Given the description of an element on the screen output the (x, y) to click on. 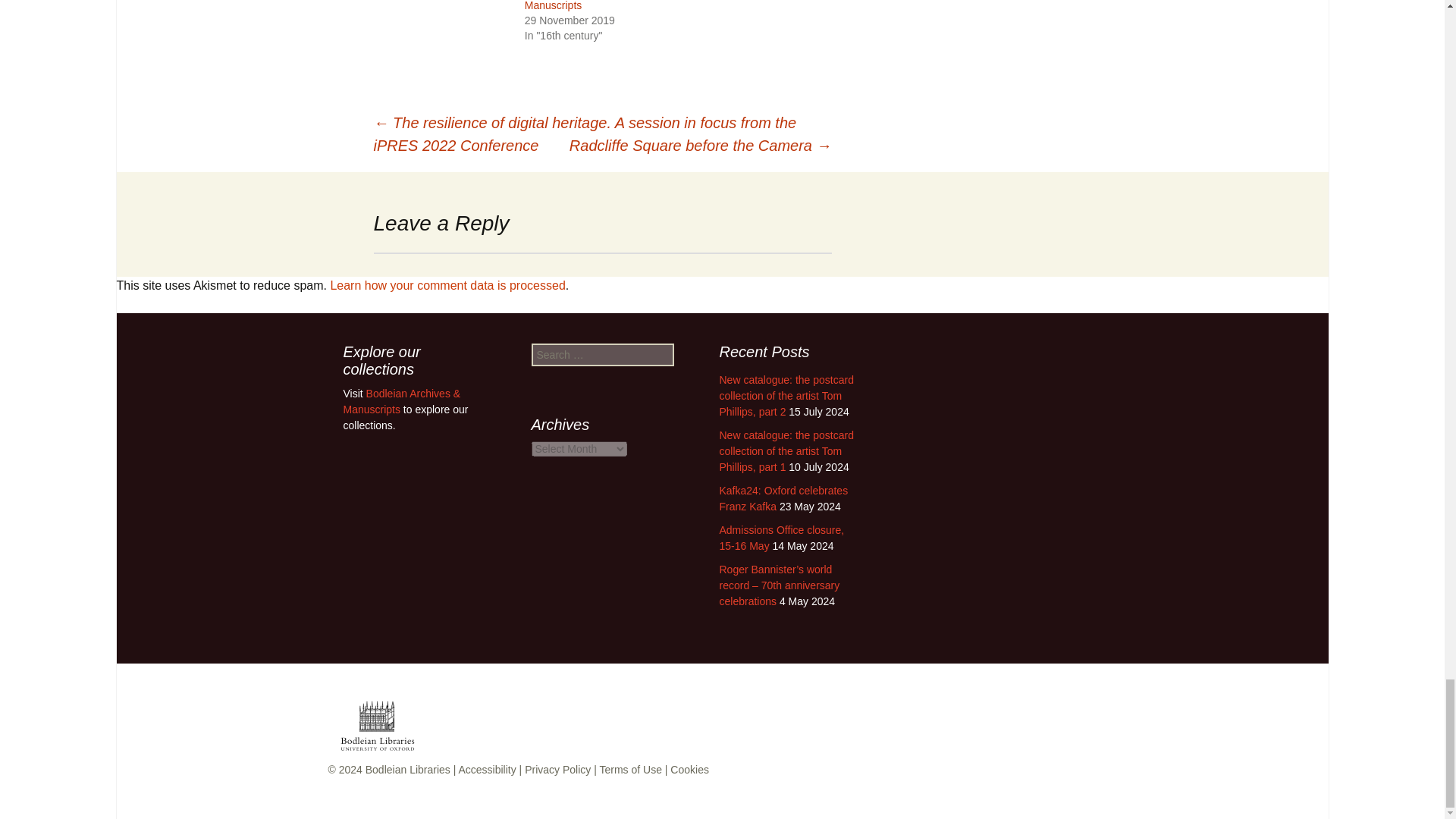
Learn how your comment data is processed (447, 285)
